Given the description of an element on the screen output the (x, y) to click on. 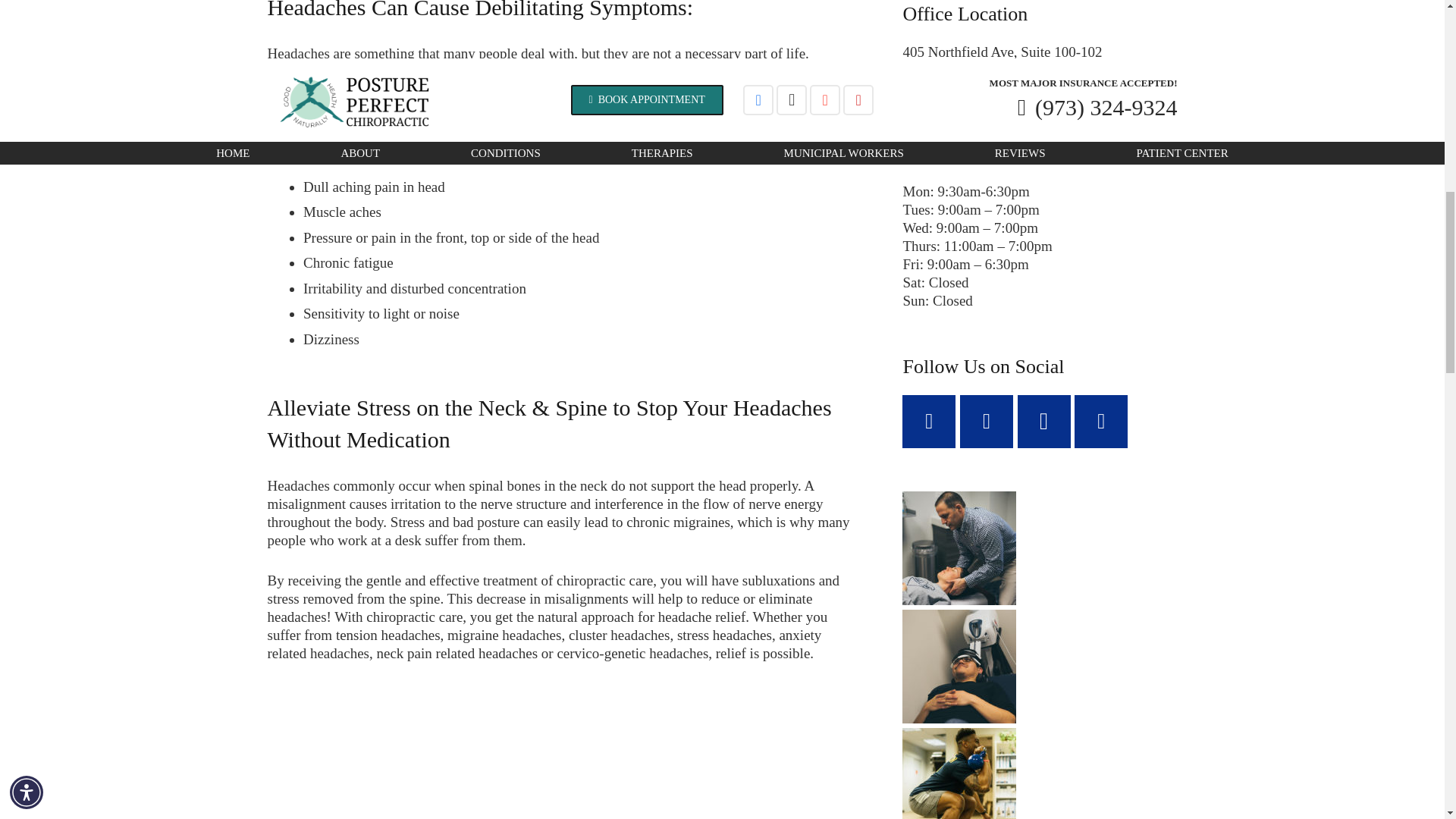
Facebook (928, 420)
Yelp (1100, 420)
Instagram (1043, 420)
Google (986, 420)
